Given the description of an element on the screen output the (x, y) to click on. 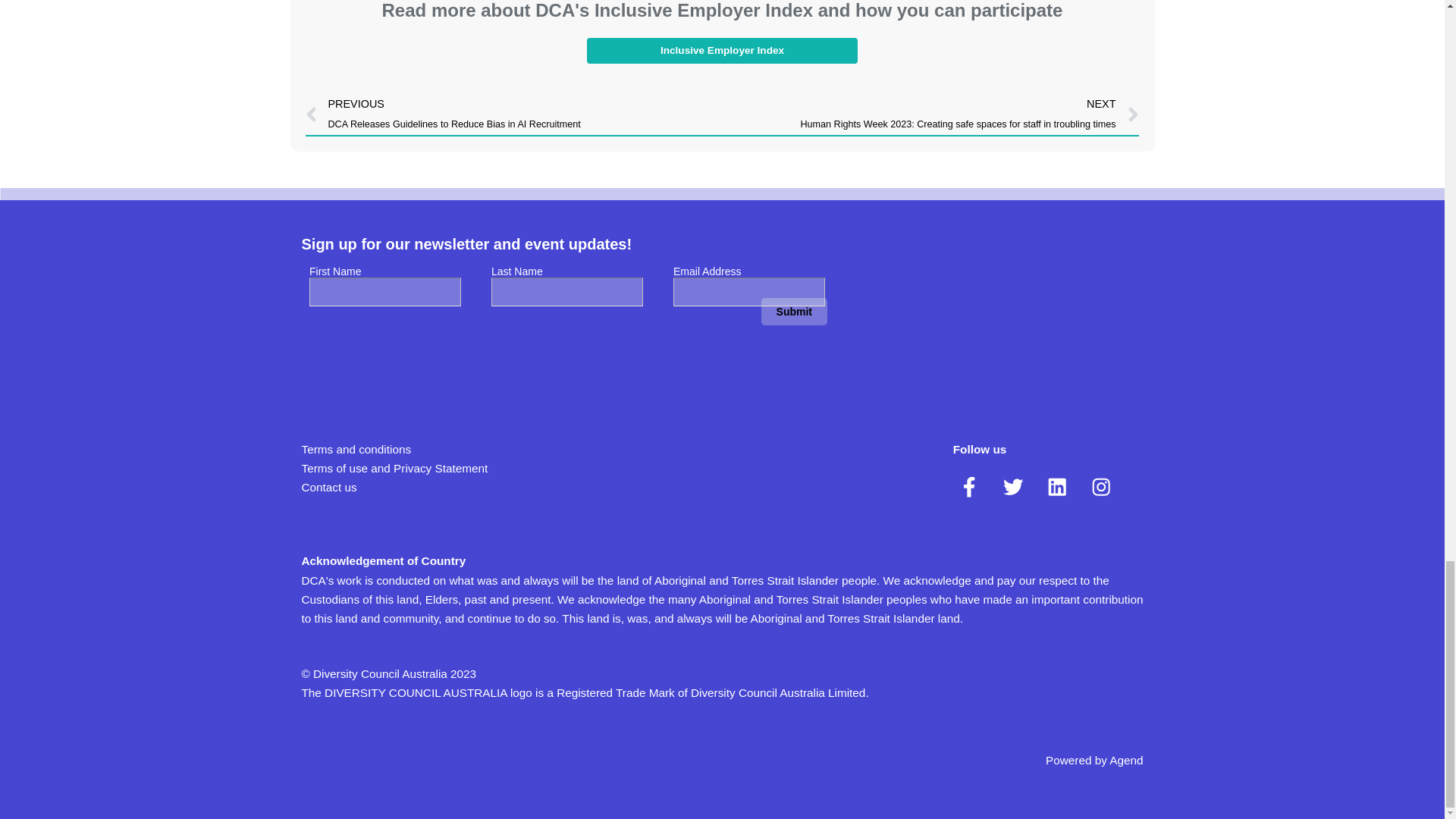
Facebook (968, 486)
LinkedIn (1056, 486)
Instagram (1100, 486)
Twitter (1013, 486)
